Given the description of an element on the screen output the (x, y) to click on. 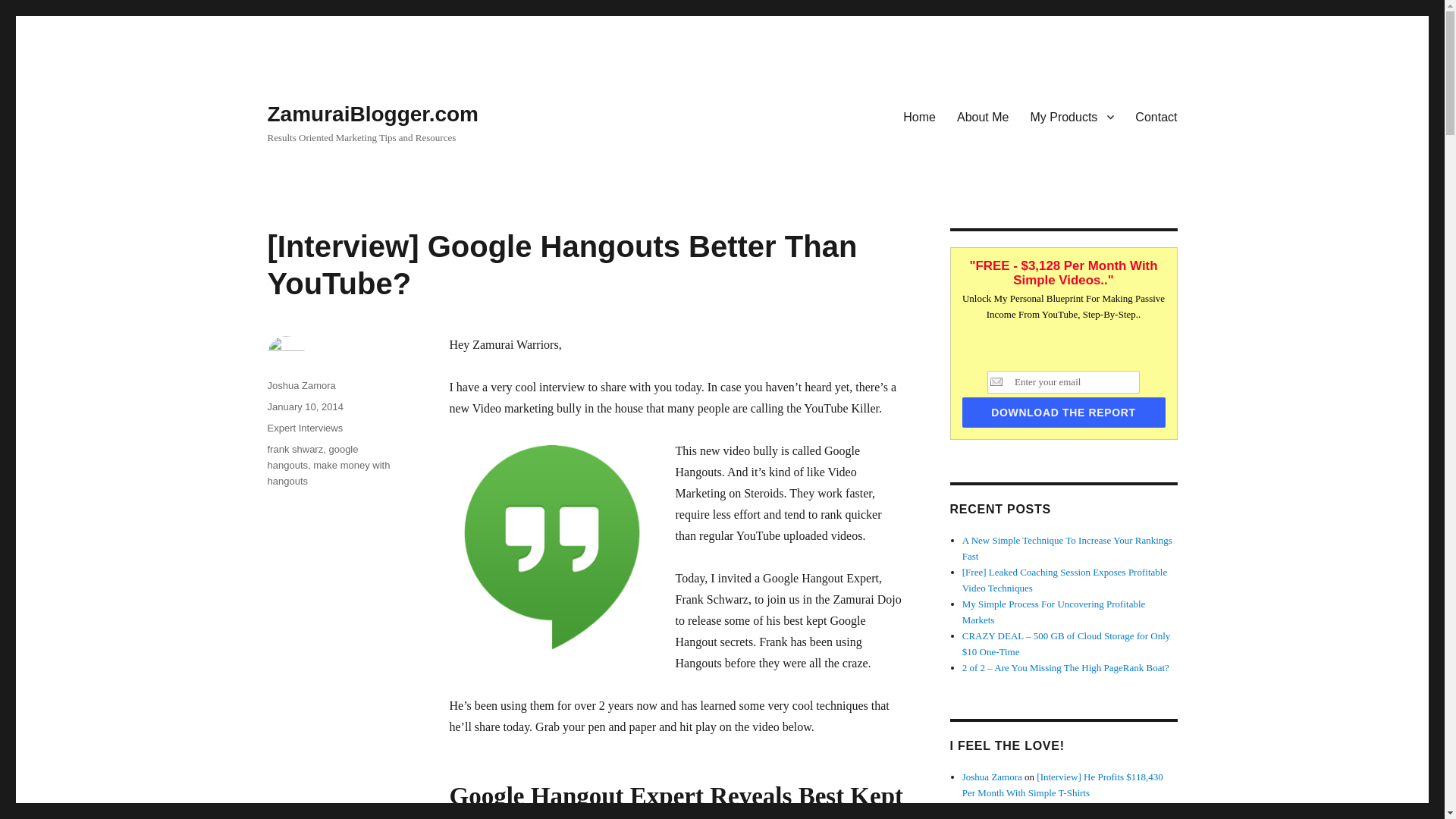
Home (919, 116)
ZamuraiBlogger.com (372, 114)
frank shwarz (294, 449)
My Products (1071, 116)
google hangouts (312, 456)
make money with hangouts (328, 472)
Enter your email (1063, 382)
Download The Report (1062, 412)
Expert Interviews (304, 428)
Joshua Zamora (300, 385)
